Given the description of an element on the screen output the (x, y) to click on. 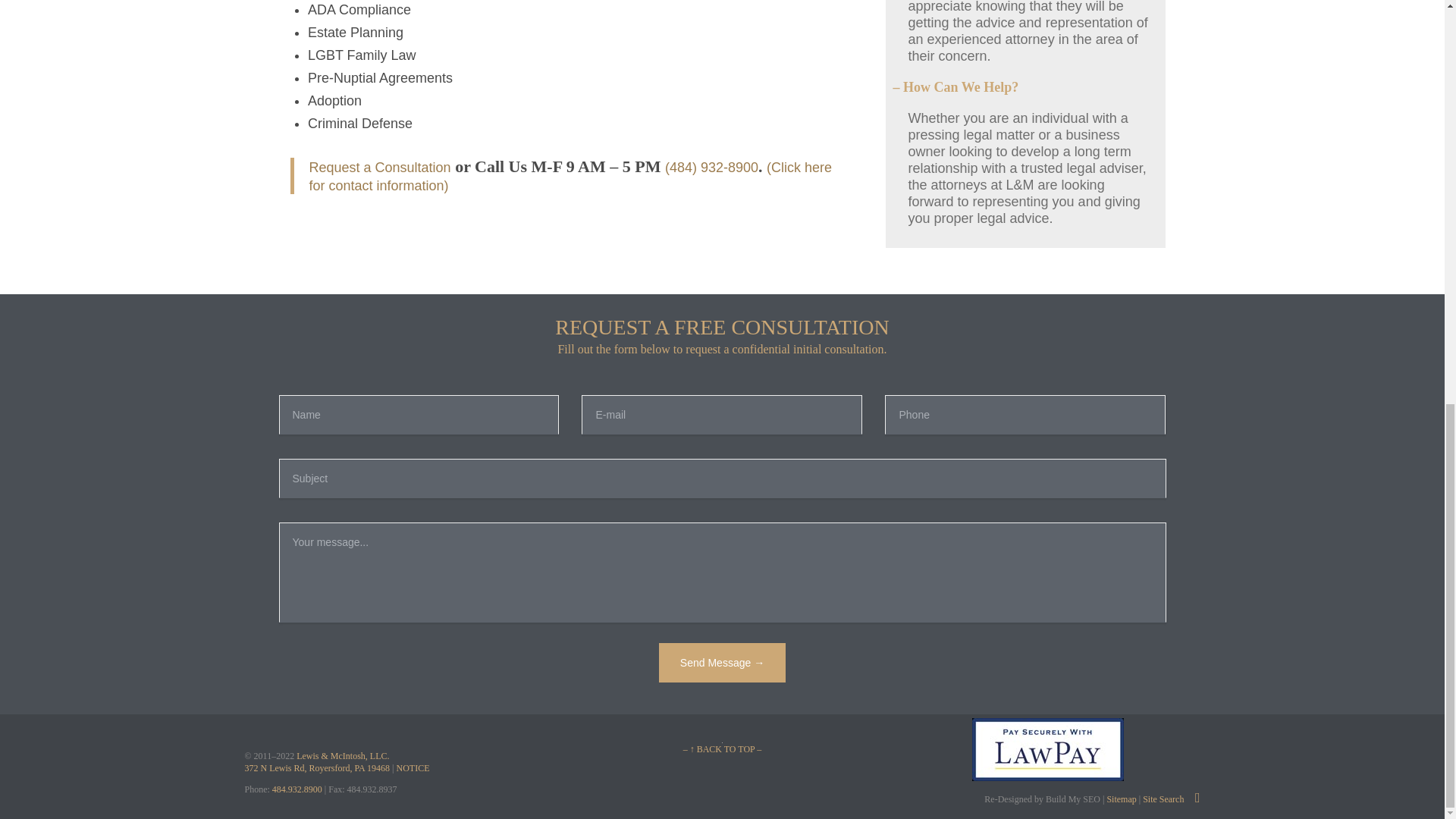
NOTICE (412, 767)
484.932.8900 (296, 788)
Sitemap (1119, 798)
Request a Consultation (379, 167)
